Given the description of an element on the screen output the (x, y) to click on. 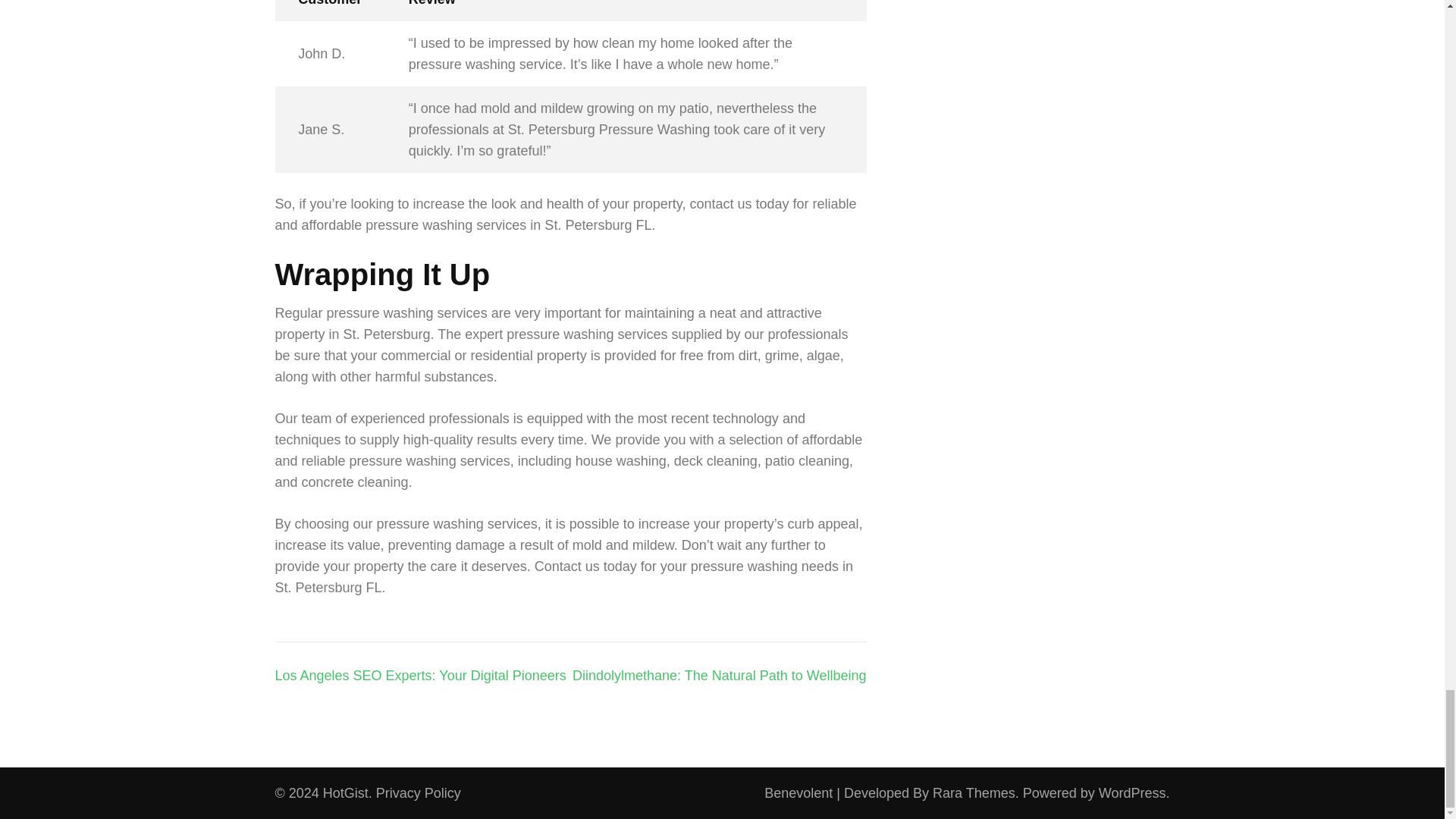
Diindolylmethane: The Natural Path to Wellbeing (719, 675)
Los Angeles SEO Experts: Your Digital Pioneers (420, 675)
